Given the description of an element on the screen output the (x, y) to click on. 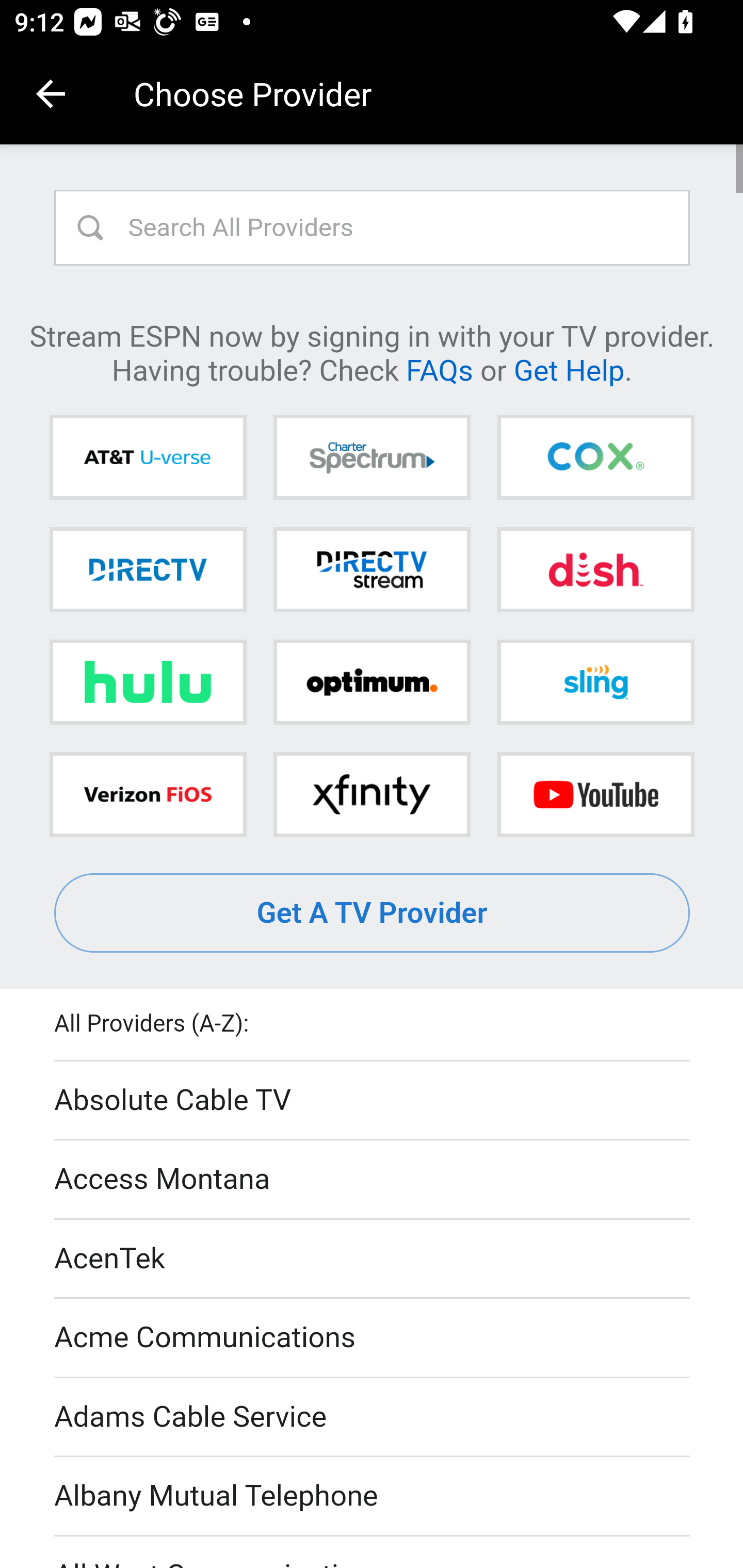
Navigate up (50, 93)
FAQs (438, 369)
Get Help (569, 369)
AT&T U-verse (147, 457)
Charter Spectrum (371, 457)
Cox (595, 457)
DIRECTV (147, 568)
DIRECTV STREAM (371, 568)
DISH (595, 568)
Hulu (147, 681)
Optimum (371, 681)
Sling TV (595, 681)
Verizon FiOS (147, 793)
Xfinity (371, 793)
YouTube TV (595, 793)
Get A TV Provider (372, 912)
Absolute Cable TV (372, 1100)
Access Montana (372, 1178)
AcenTek (372, 1258)
Acme Communications (372, 1338)
Adams Cable Service (372, 1417)
Albany Mutual Telephone (372, 1497)
